Given the description of an element on the screen output the (x, y) to click on. 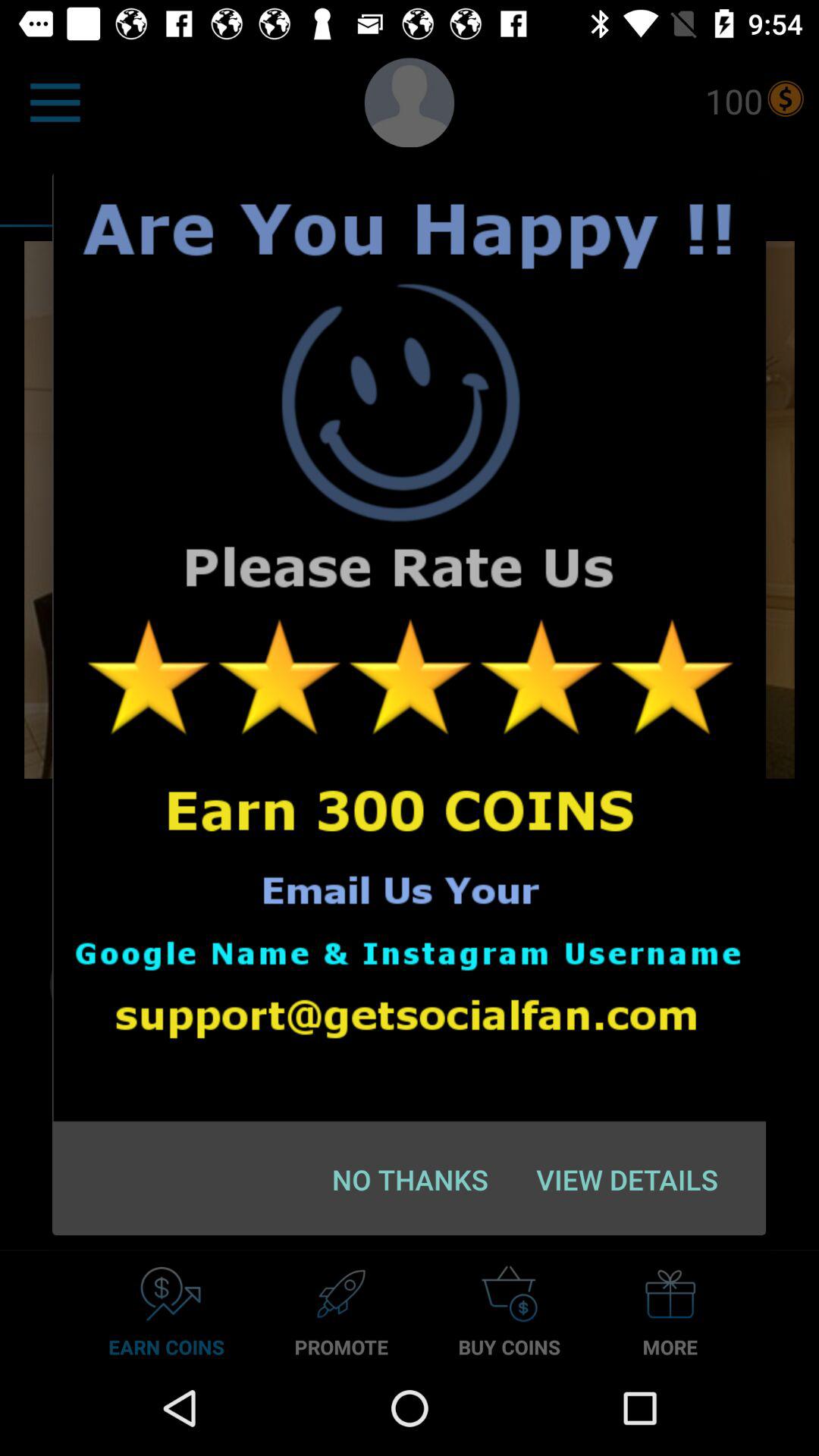
select the view details at the bottom right corner (627, 1179)
